Given the description of an element on the screen output the (x, y) to click on. 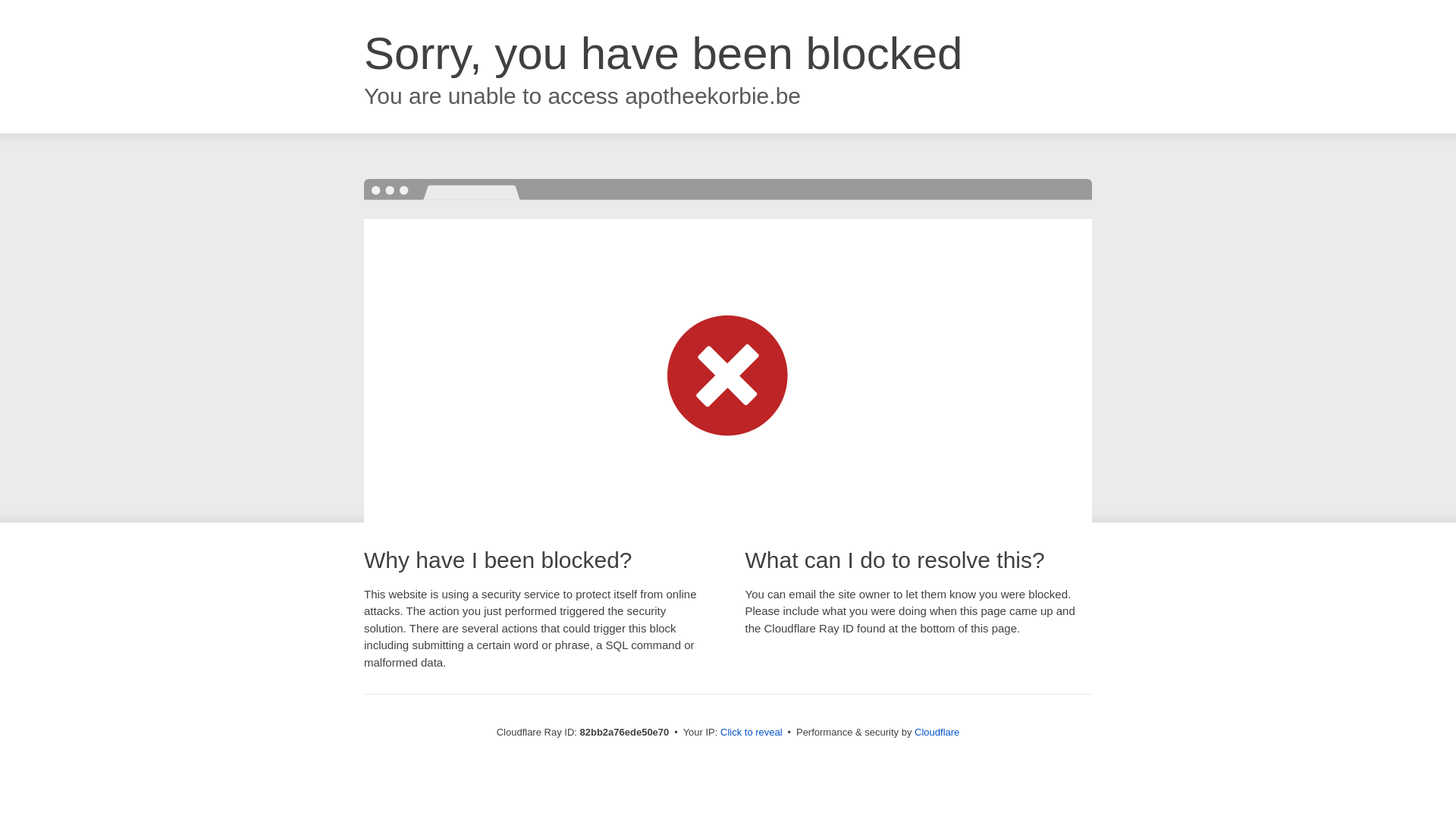
Click to reveal Element type: text (751, 732)
Cloudflare Element type: text (936, 731)
